Given the description of an element on the screen output the (x, y) to click on. 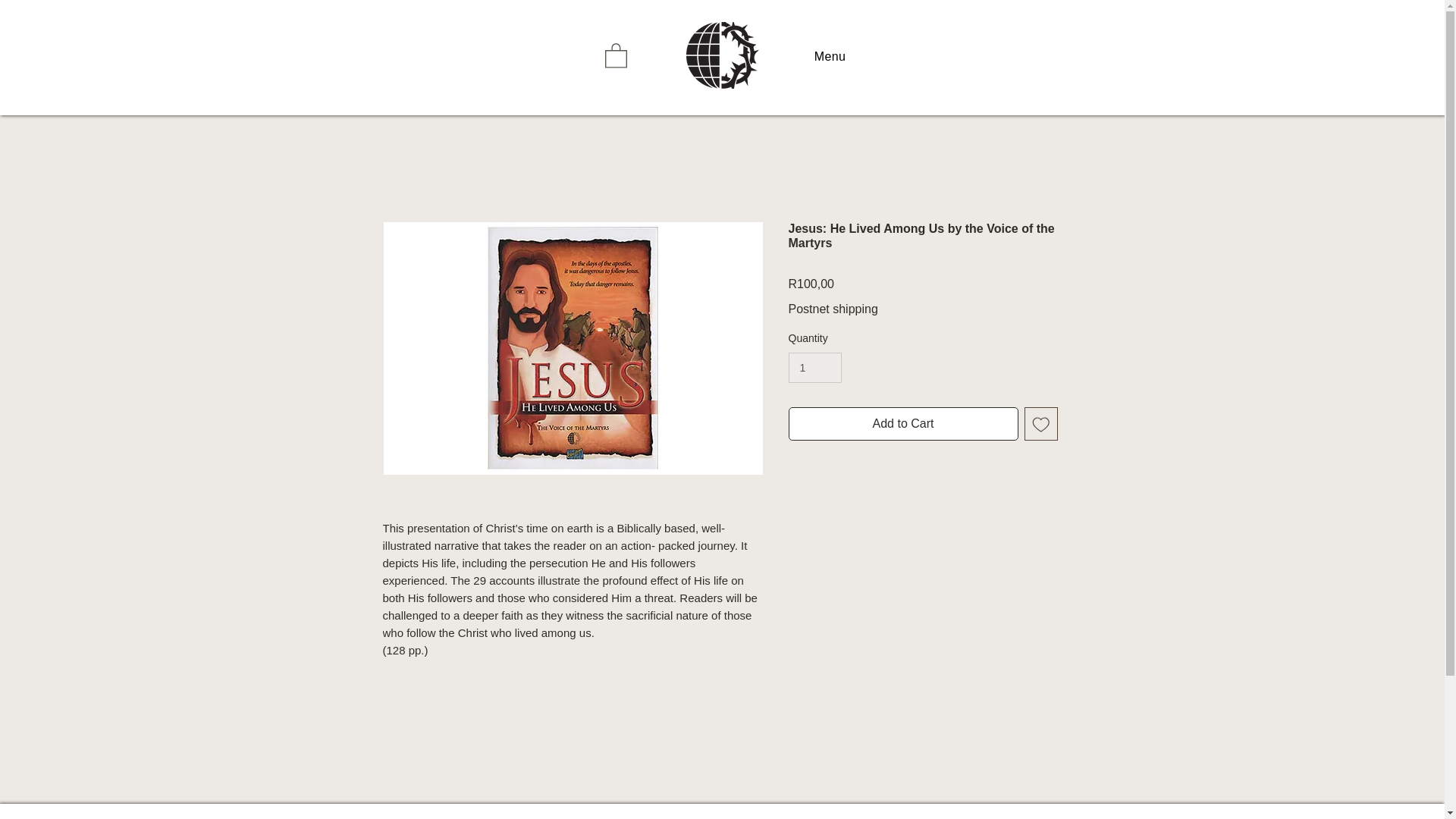
Add to Cart (903, 423)
1 (816, 367)
Postnet shipping (833, 309)
